Given the description of an element on the screen output the (x, y) to click on. 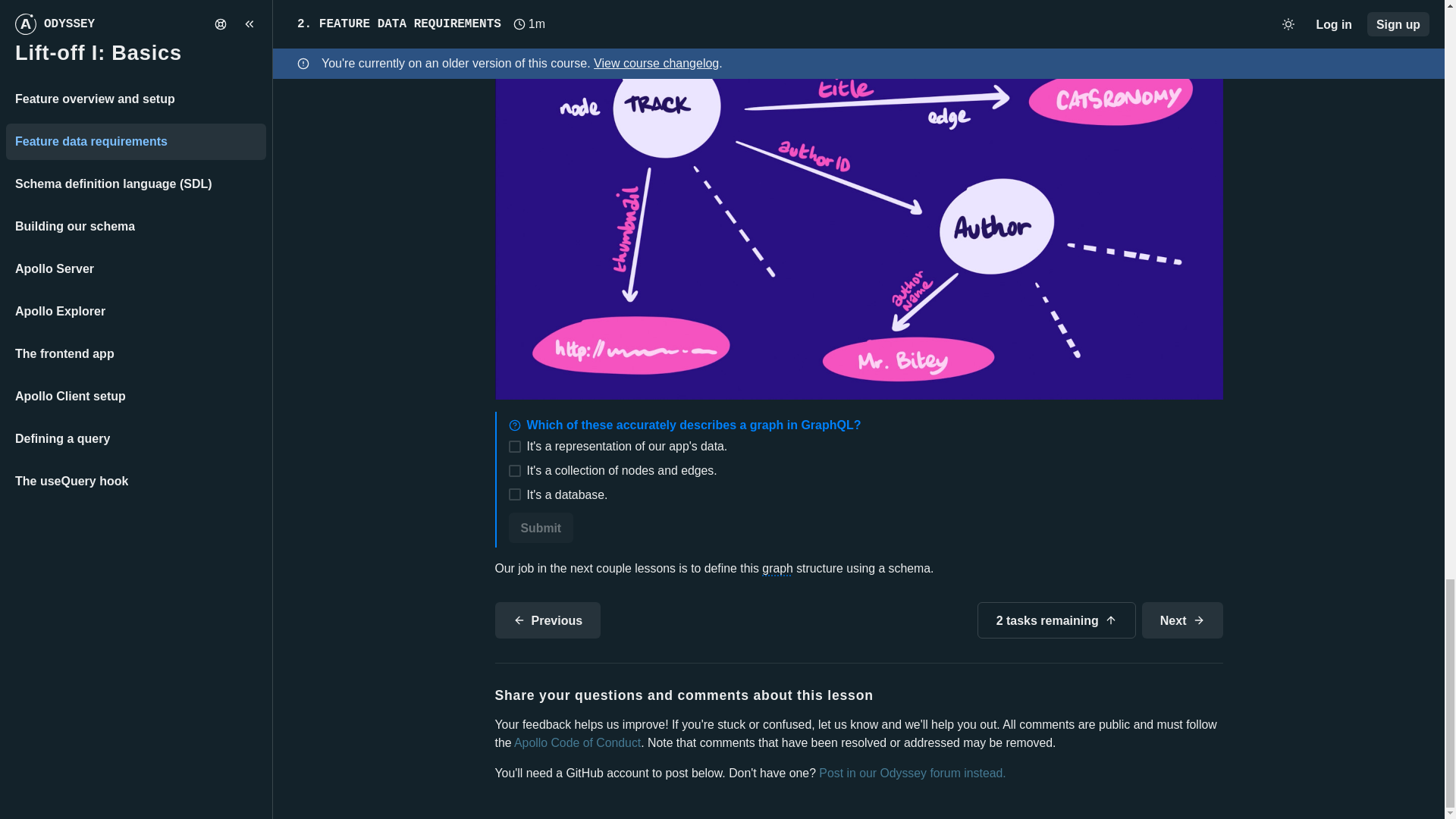
Previous (547, 619)
Next (1182, 619)
Submit (540, 527)
Post in our Odyssey forum instead. (912, 772)
2 tasks remaining (1055, 619)
Apollo Code of Conduct (576, 742)
